Given the description of an element on the screen output the (x, y) to click on. 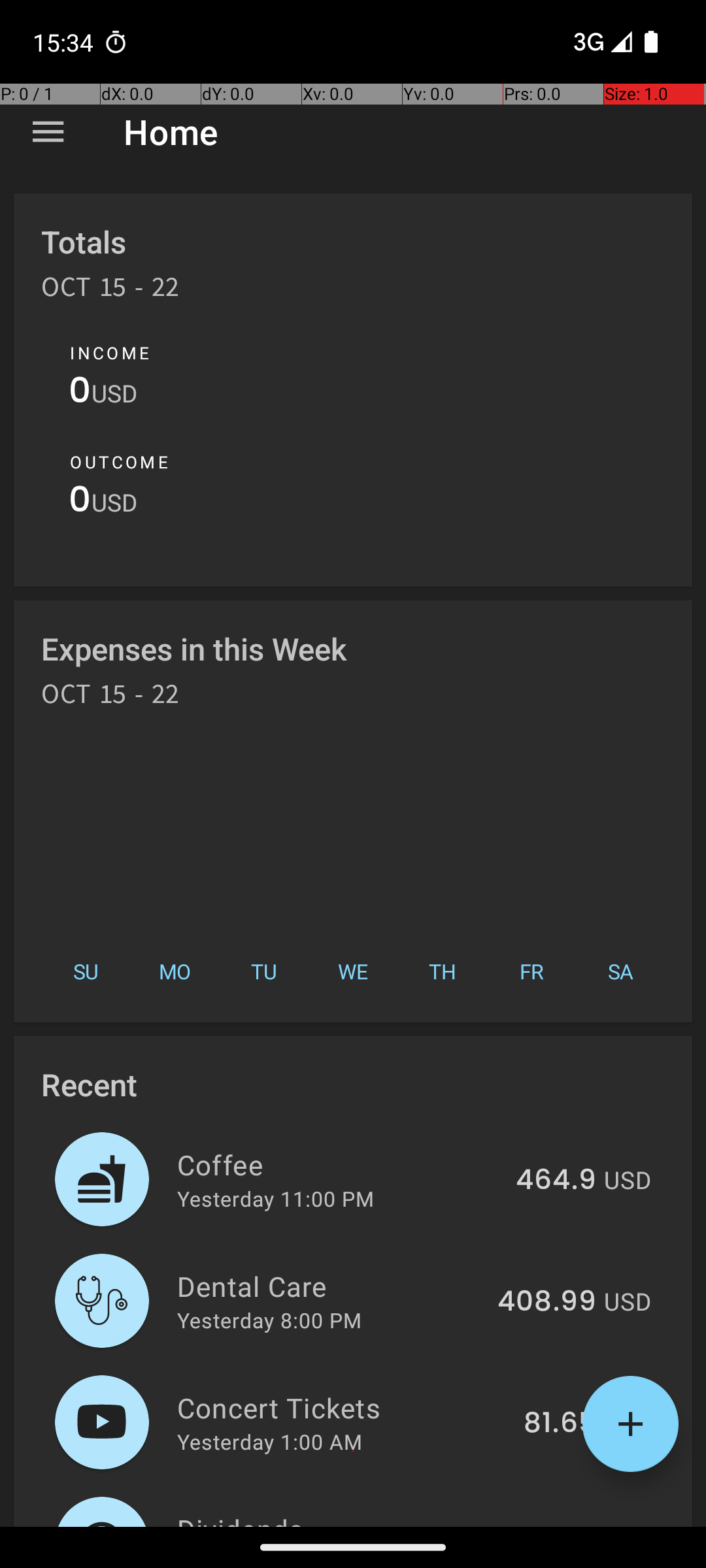
Coffee Element type: android.widget.TextView (338, 1164)
Yesterday 11:00 PM Element type: android.widget.TextView (275, 1198)
464.9 Element type: android.widget.TextView (555, 1180)
Dental Care Element type: android.widget.TextView (329, 1285)
Yesterday 8:00 PM Element type: android.widget.TextView (269, 1320)
408.99 Element type: android.widget.TextView (546, 1301)
Concert Tickets Element type: android.widget.TextView (342, 1407)
Yesterday 1:00 AM Element type: android.widget.TextView (269, 1441)
81.65 Element type: android.widget.TextView (559, 1423)
Dividends Element type: android.widget.TextView (333, 1518)
485.18 Element type: android.widget.TextView (550, 1524)
